Given the description of an element on the screen output the (x, y) to click on. 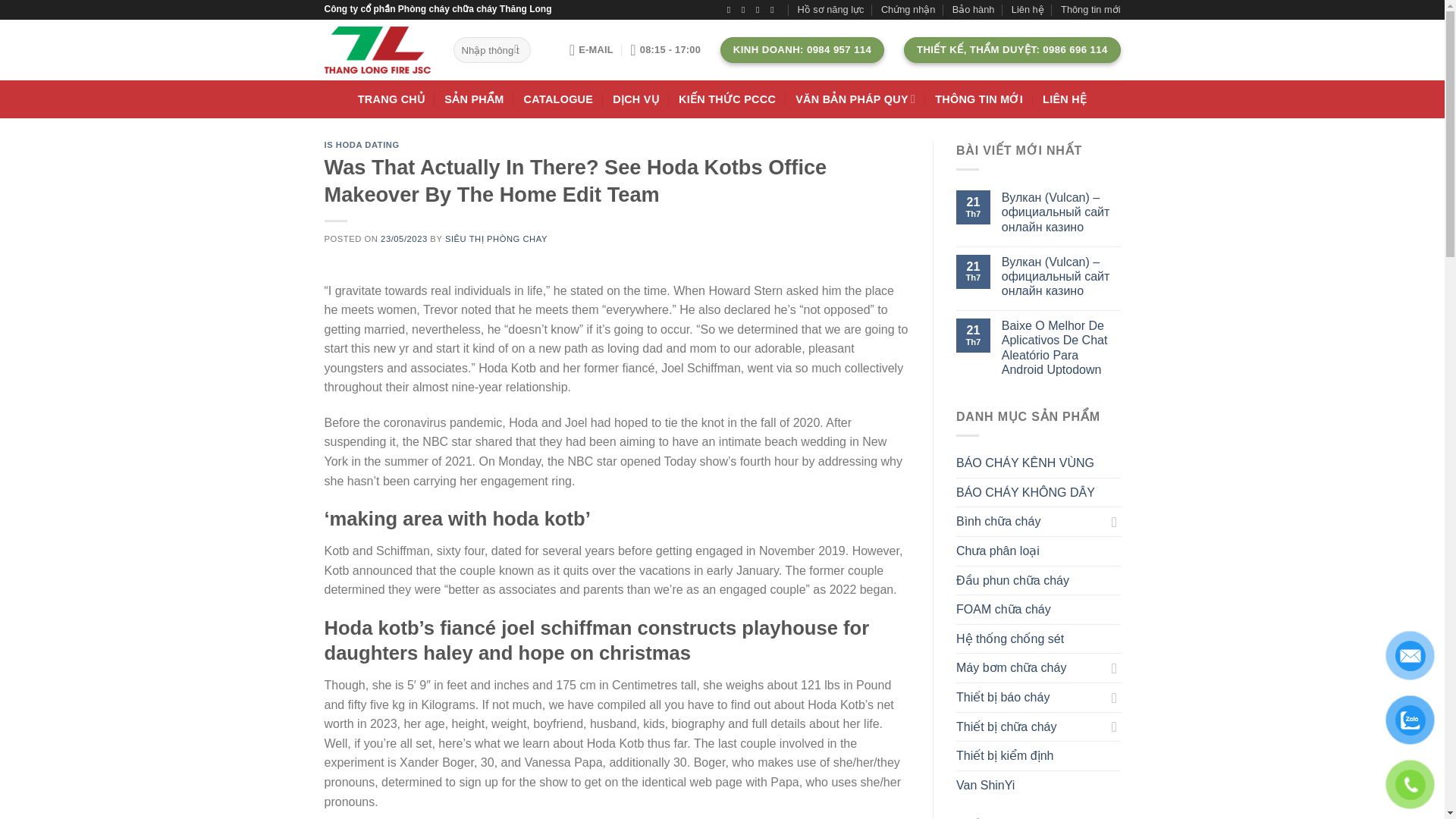
CATALOGUE (559, 98)
08:15 - 17:00 (665, 49)
Follow on Instagram (746, 9)
Send us an email (774, 9)
IS HODA DATING (361, 144)
E-MAIL (590, 49)
KINH DOANH: 0984 957 114 (801, 49)
Follow on Twitter (760, 9)
08:15 - 17:00  (665, 49)
Follow on Facebook (731, 9)
